Given the description of an element on the screen output the (x, y) to click on. 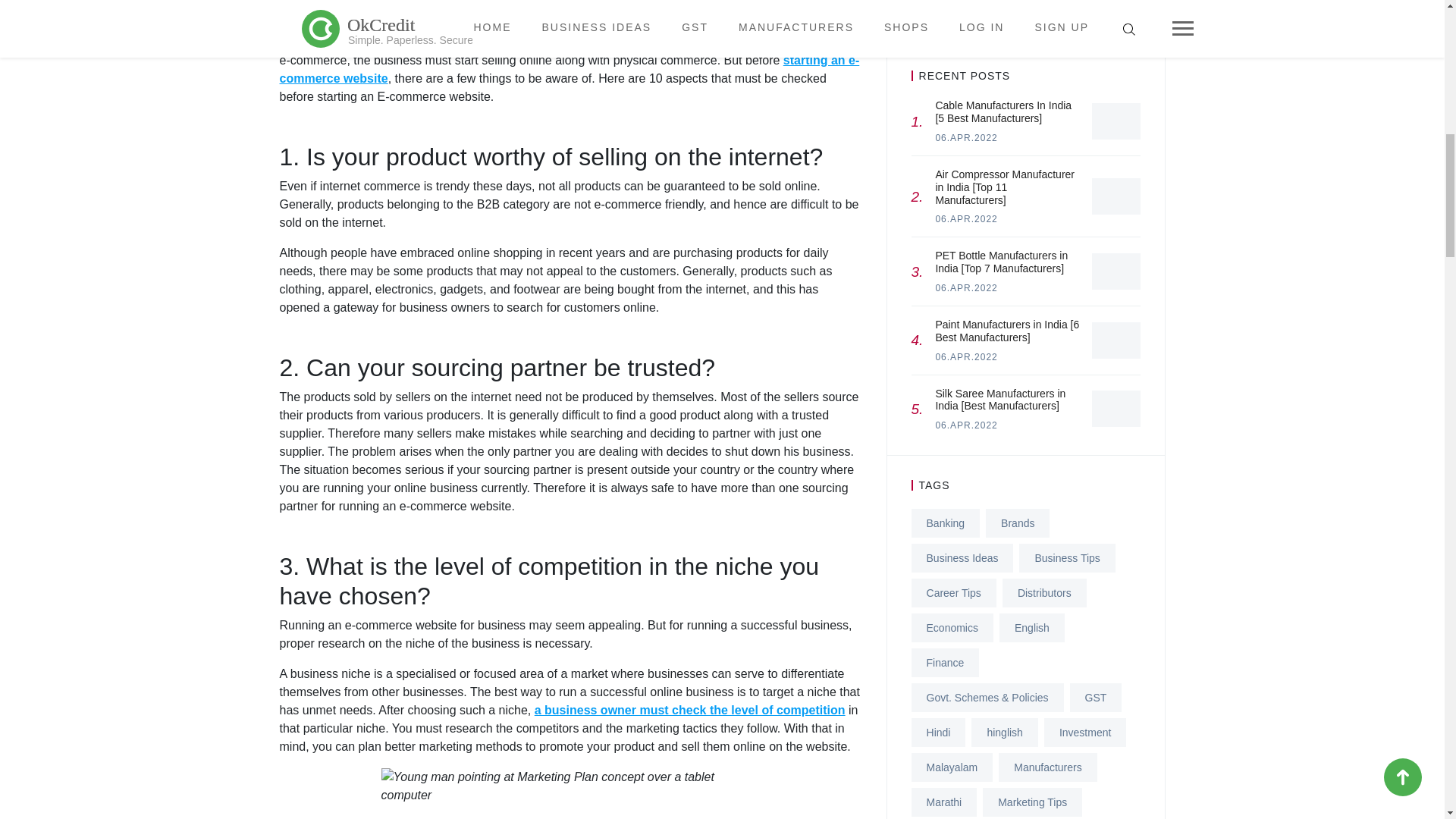
starting an e-commerce website (569, 69)
06 April 2022 (965, 218)
a business owner must check the level of competition (689, 709)
06 April 2022 (965, 137)
Before starting any business (362, 42)
06 April 2022 (965, 425)
06 April 2022 (965, 357)
06 April 2022 (965, 287)
